Given the description of an element on the screen output the (x, y) to click on. 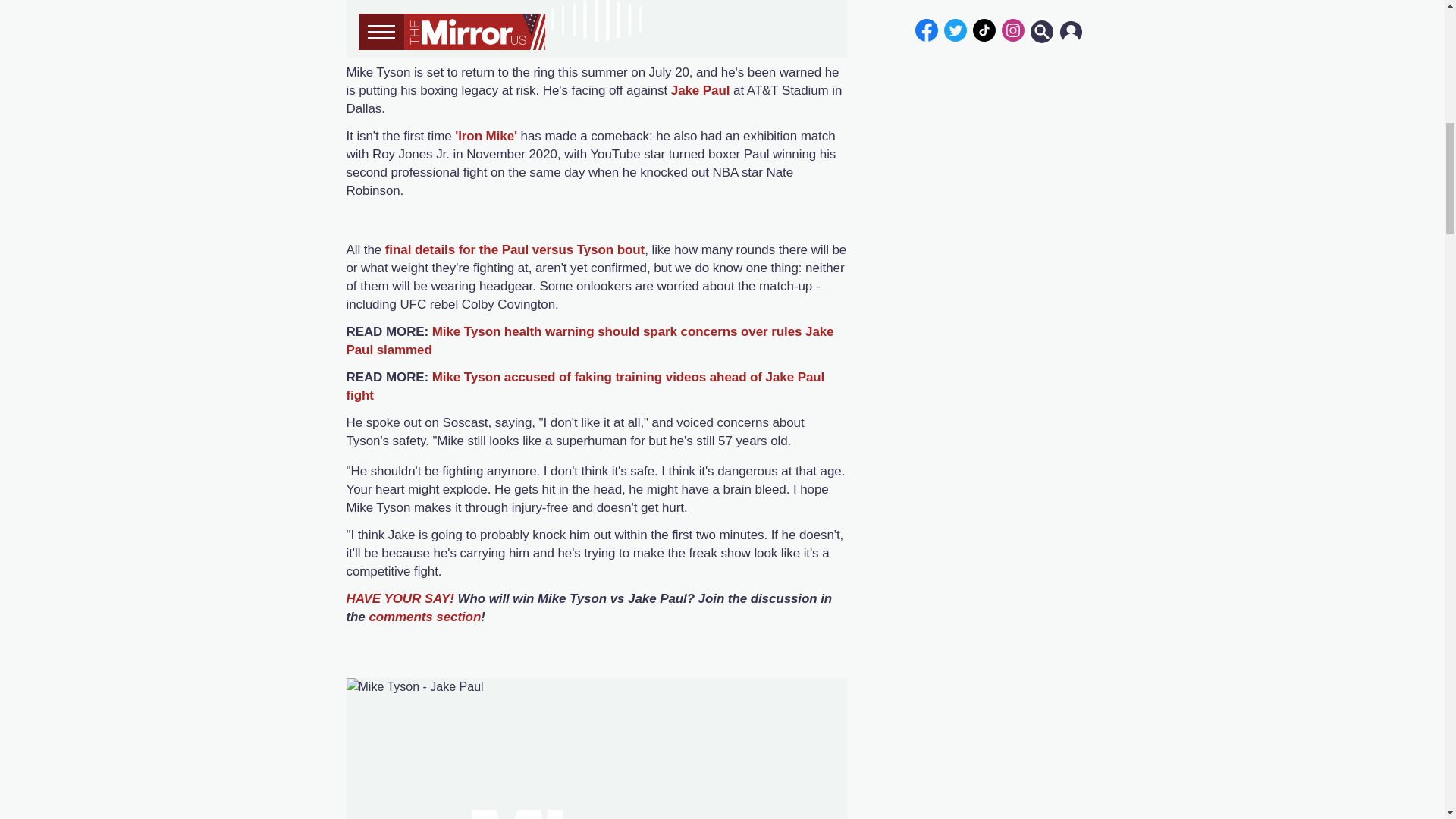
Jake Paul (700, 90)
final details for the Paul versus Tyson bout (515, 249)
'Iron Mike' (486, 135)
